Given the description of an element on the screen output the (x, y) to click on. 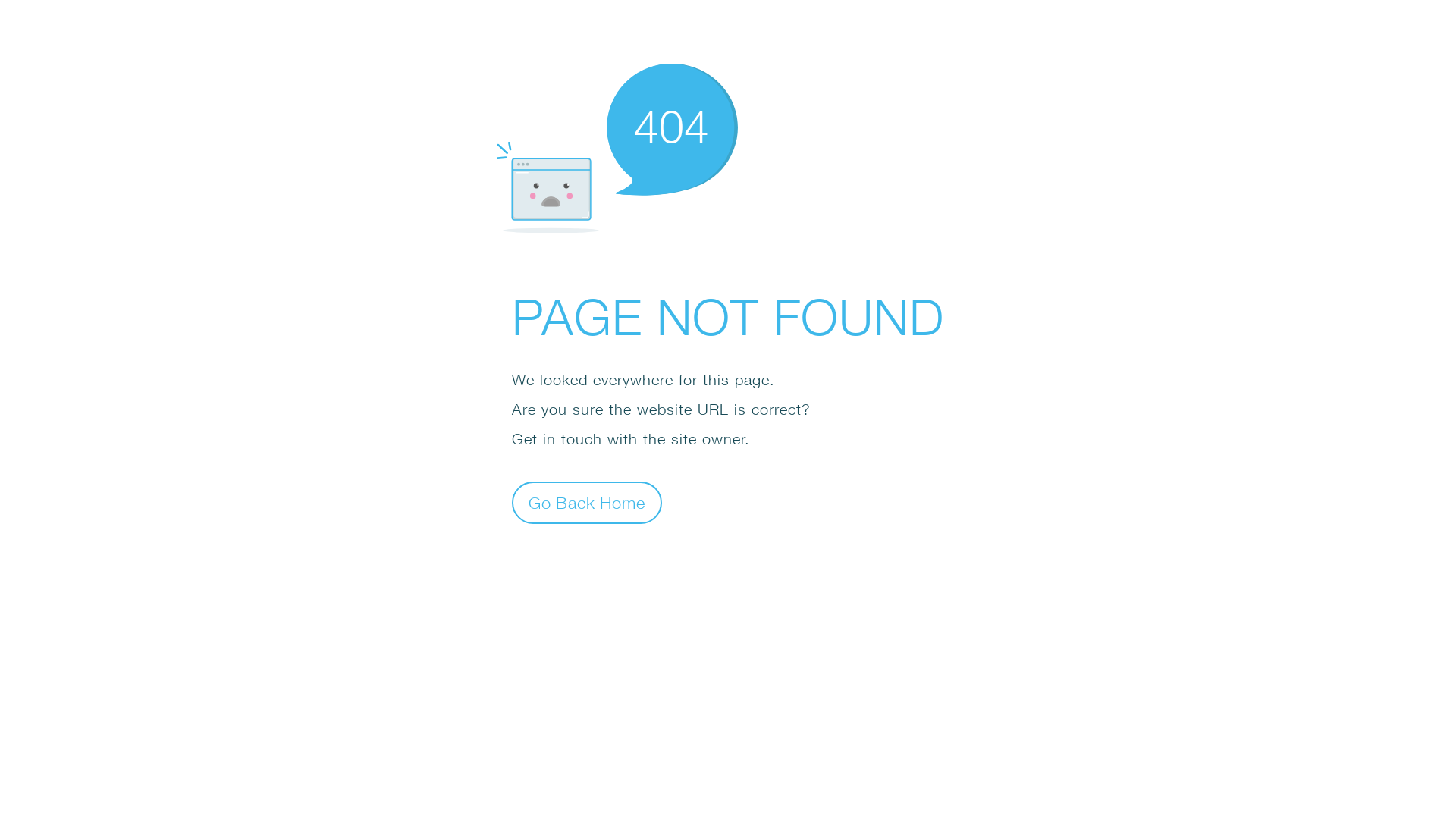
Go Back Home Element type: text (586, 502)
